Given the description of an element on the screen output the (x, y) to click on. 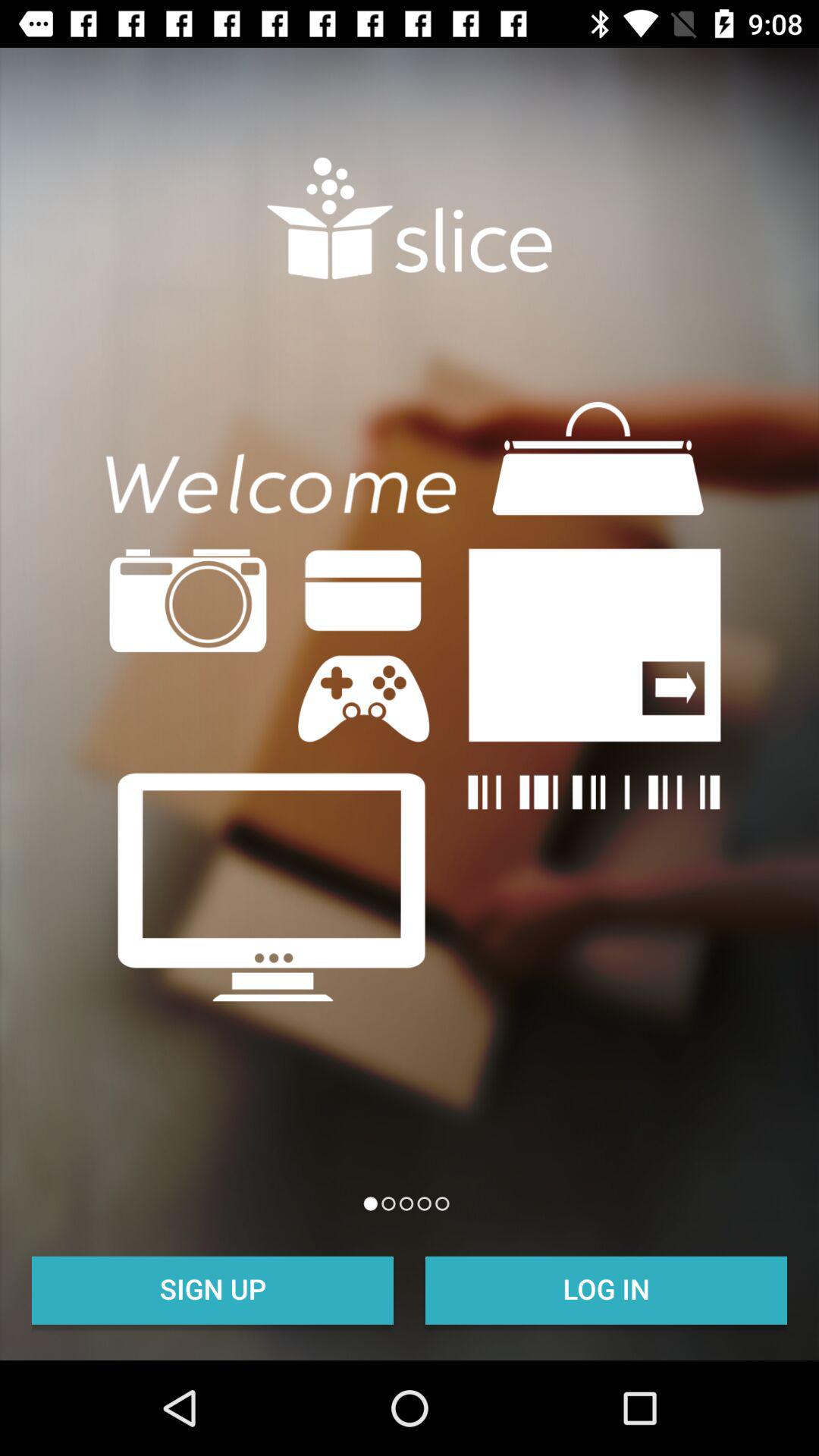
jump to the sign up (212, 1288)
